Given the description of an element on the screen output the (x, y) to click on. 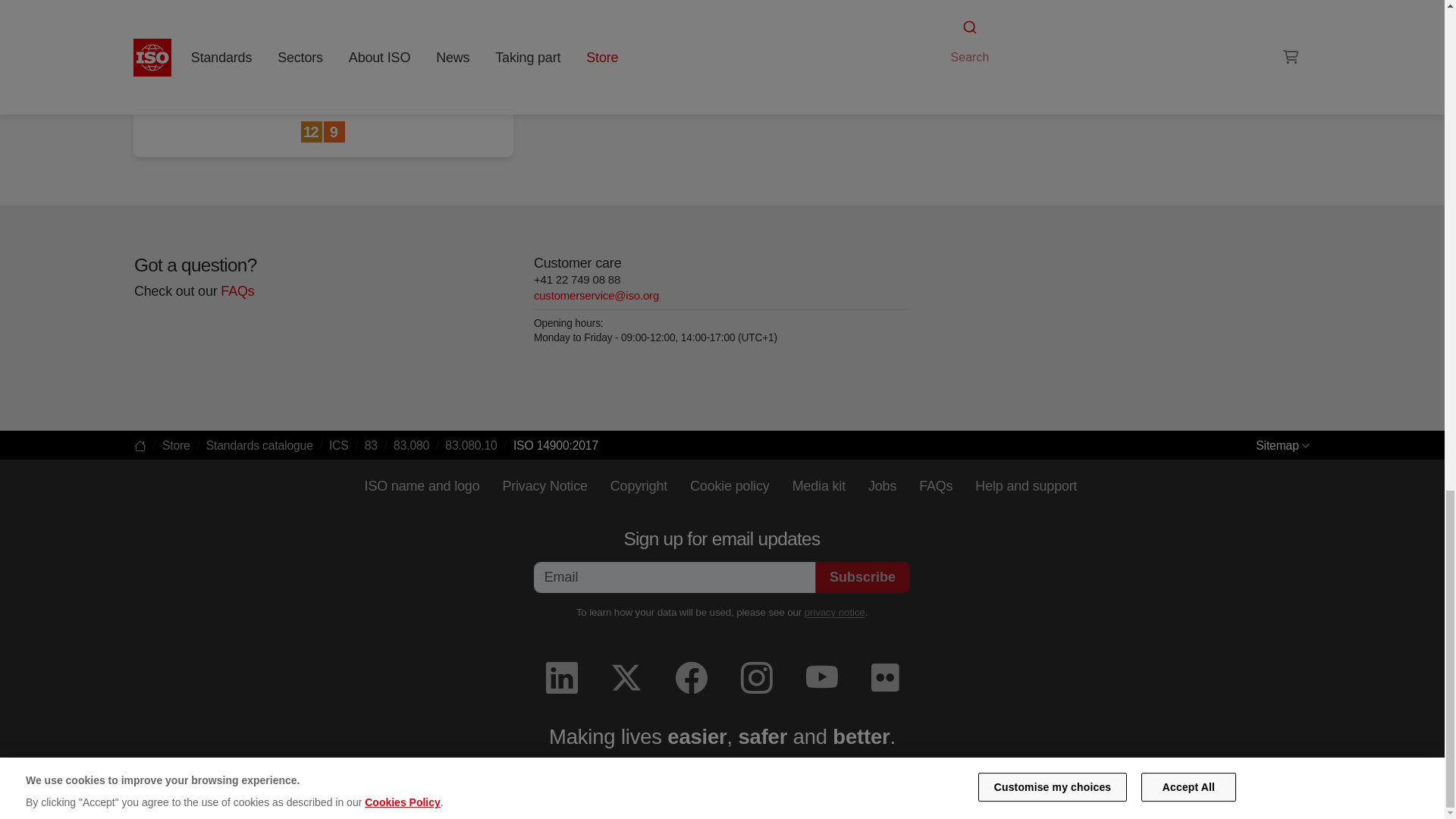
Industry, Innovation and Infrastructure (334, 132)
Responsible Consumption and Production (312, 132)
